Given the description of an element on the screen output the (x, y) to click on. 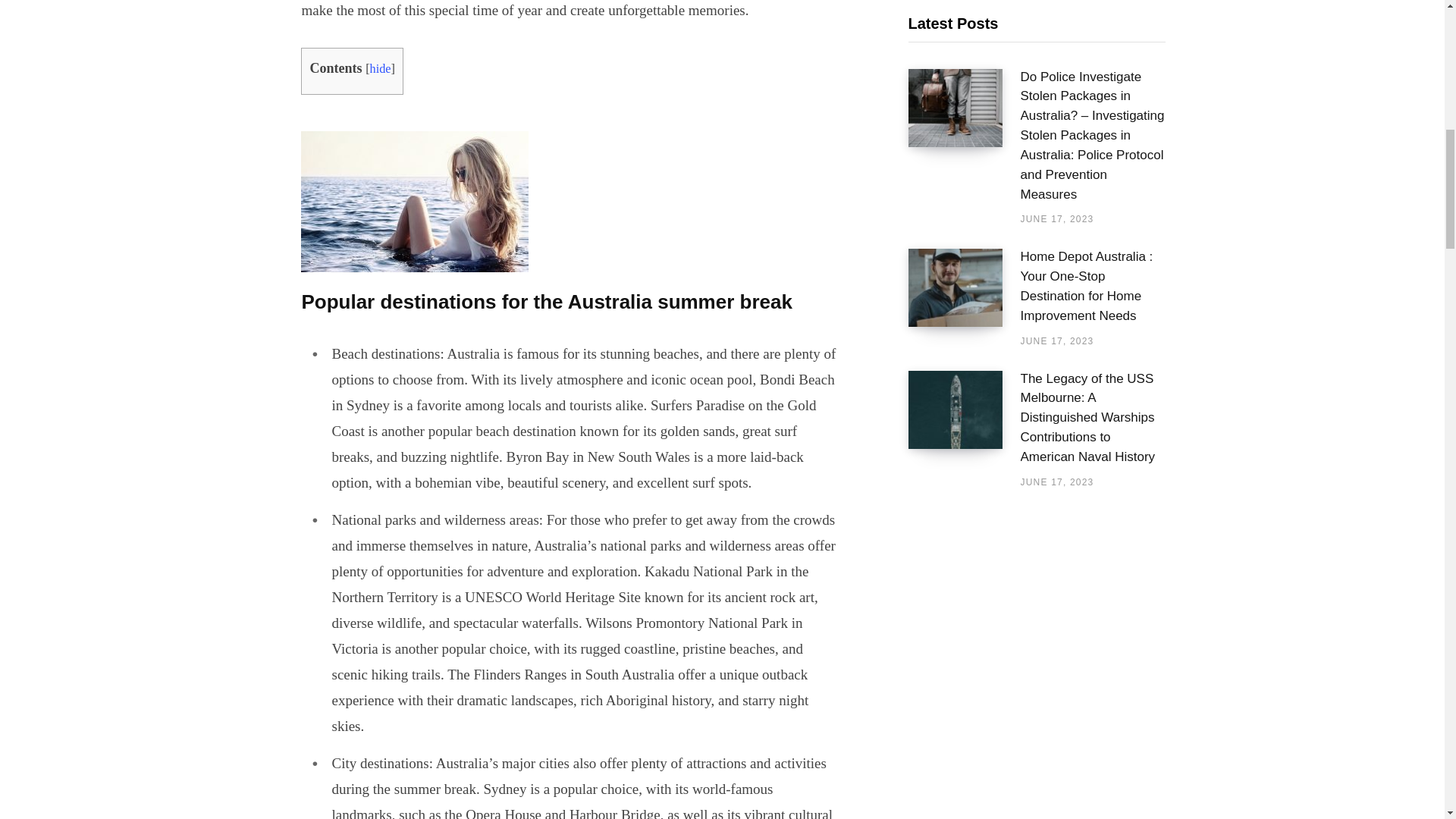
hide (380, 69)
